Given the description of an element on the screen output the (x, y) to click on. 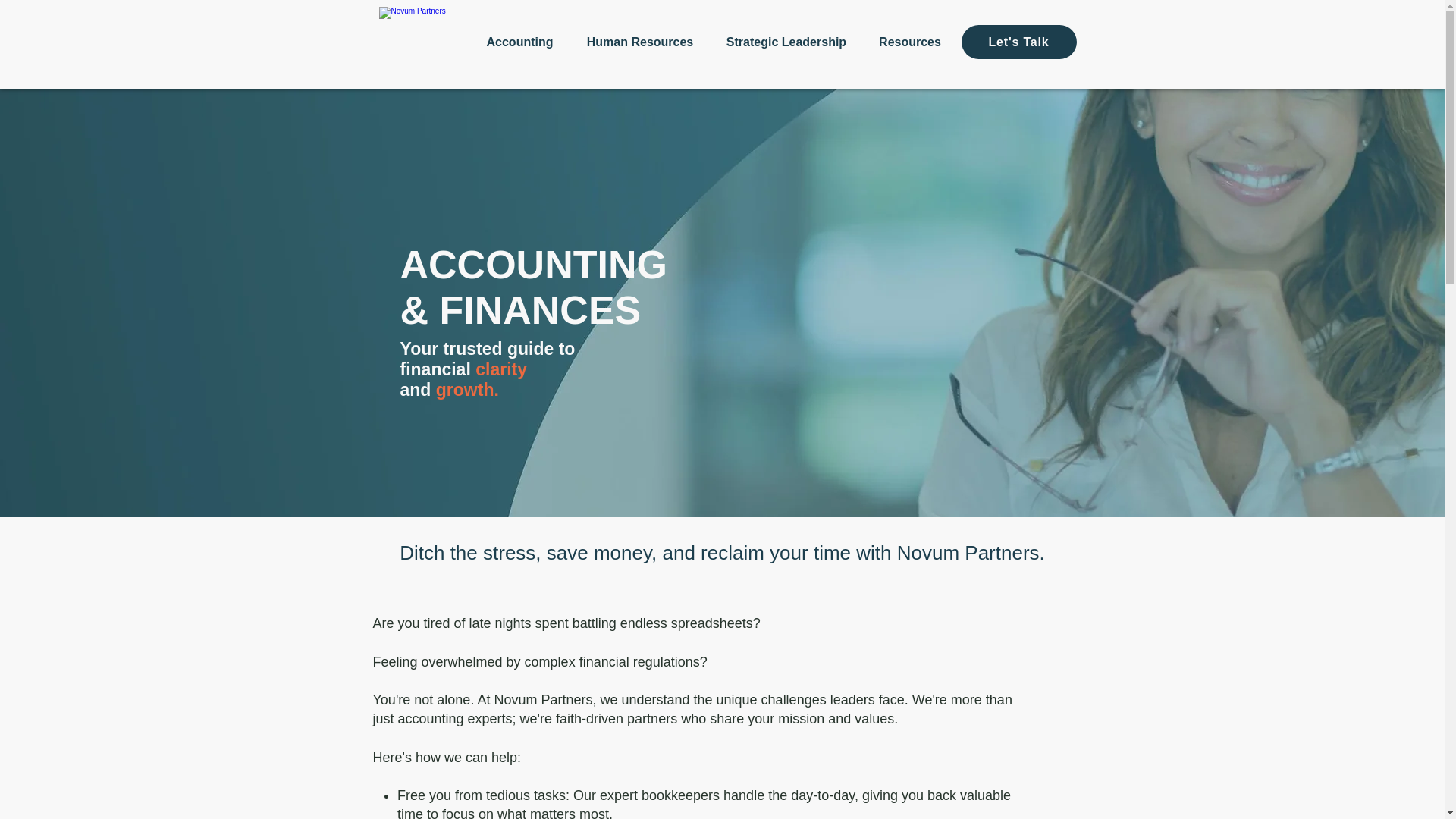
Accounting (520, 41)
Human Resources (640, 41)
Let's Talk (1018, 41)
Resources (910, 41)
Strategic Leadership (785, 41)
